Given the description of an element on the screen output the (x, y) to click on. 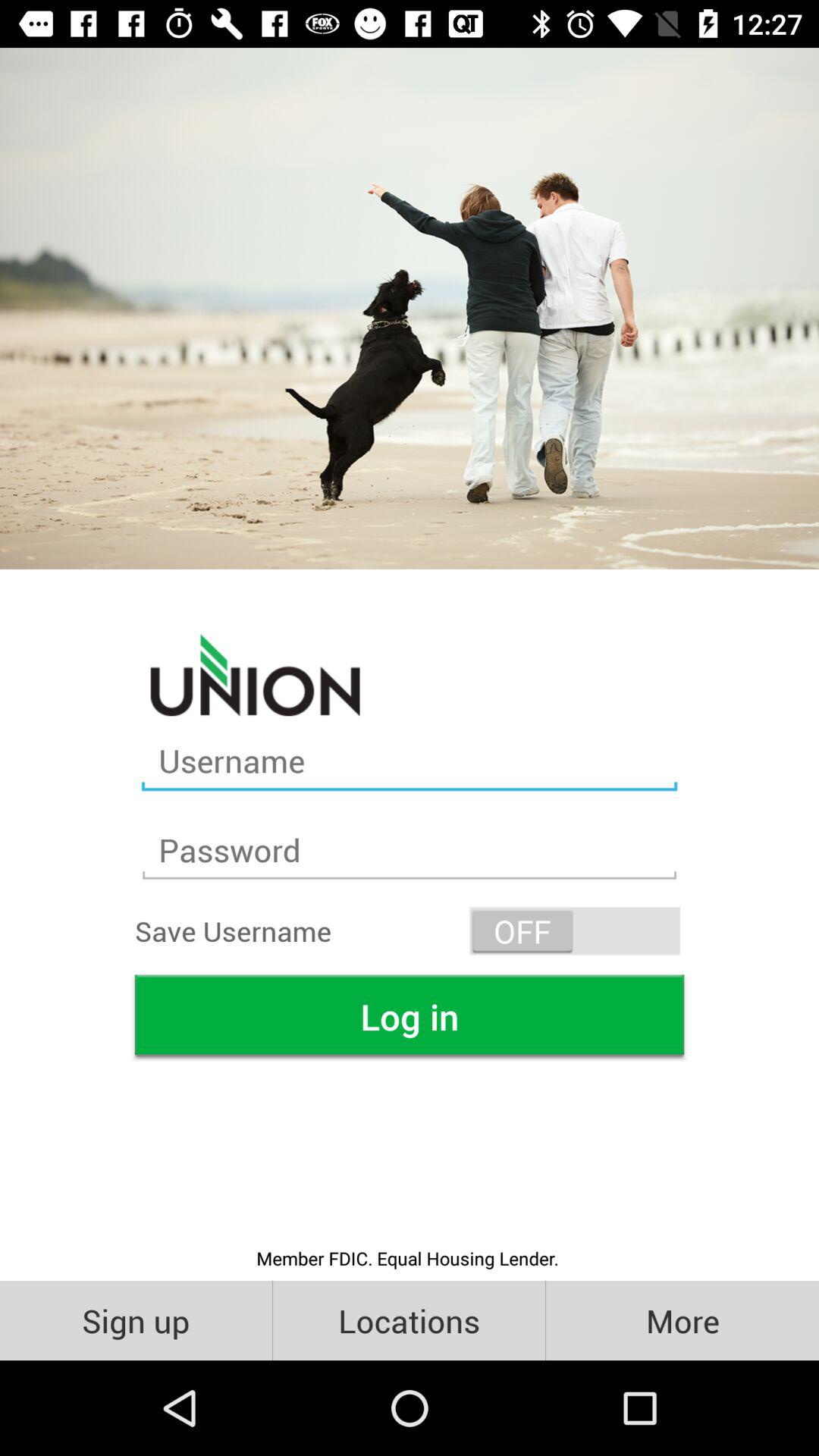
click on password (409, 849)
click on off (574, 930)
select the text locations below (408, 1320)
